Given the description of an element on the screen output the (x, y) to click on. 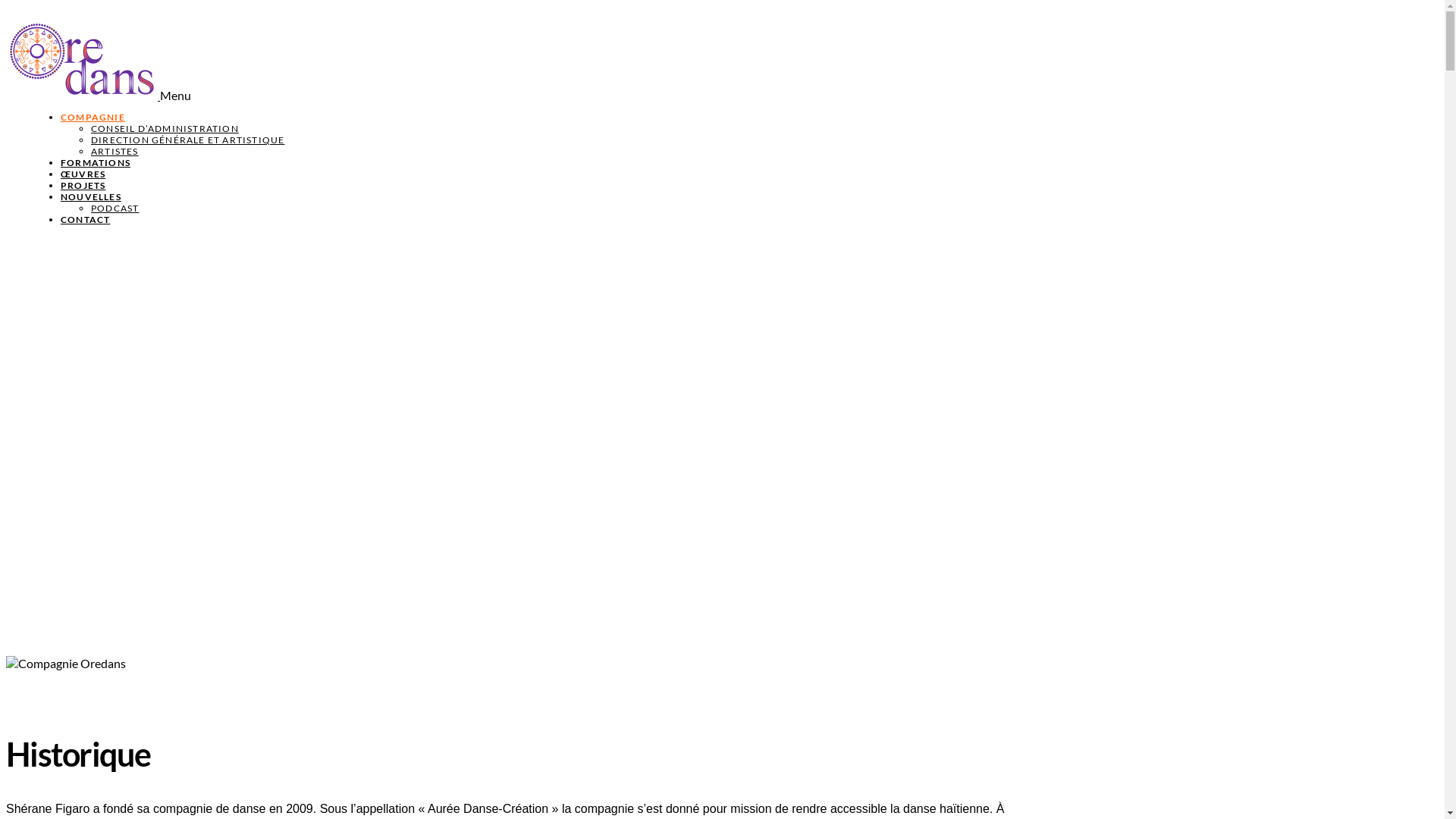
ARTISTES Element type: text (114, 150)
CONTACT Element type: text (84, 219)
NOUVELLES Element type: text (90, 196)
COMPAGNIE Element type: text (92, 116)
FORMATIONS Element type: text (95, 162)
PROJETS Element type: text (82, 185)
PODCAST Element type: text (114, 207)
